Given the description of an element on the screen output the (x, y) to click on. 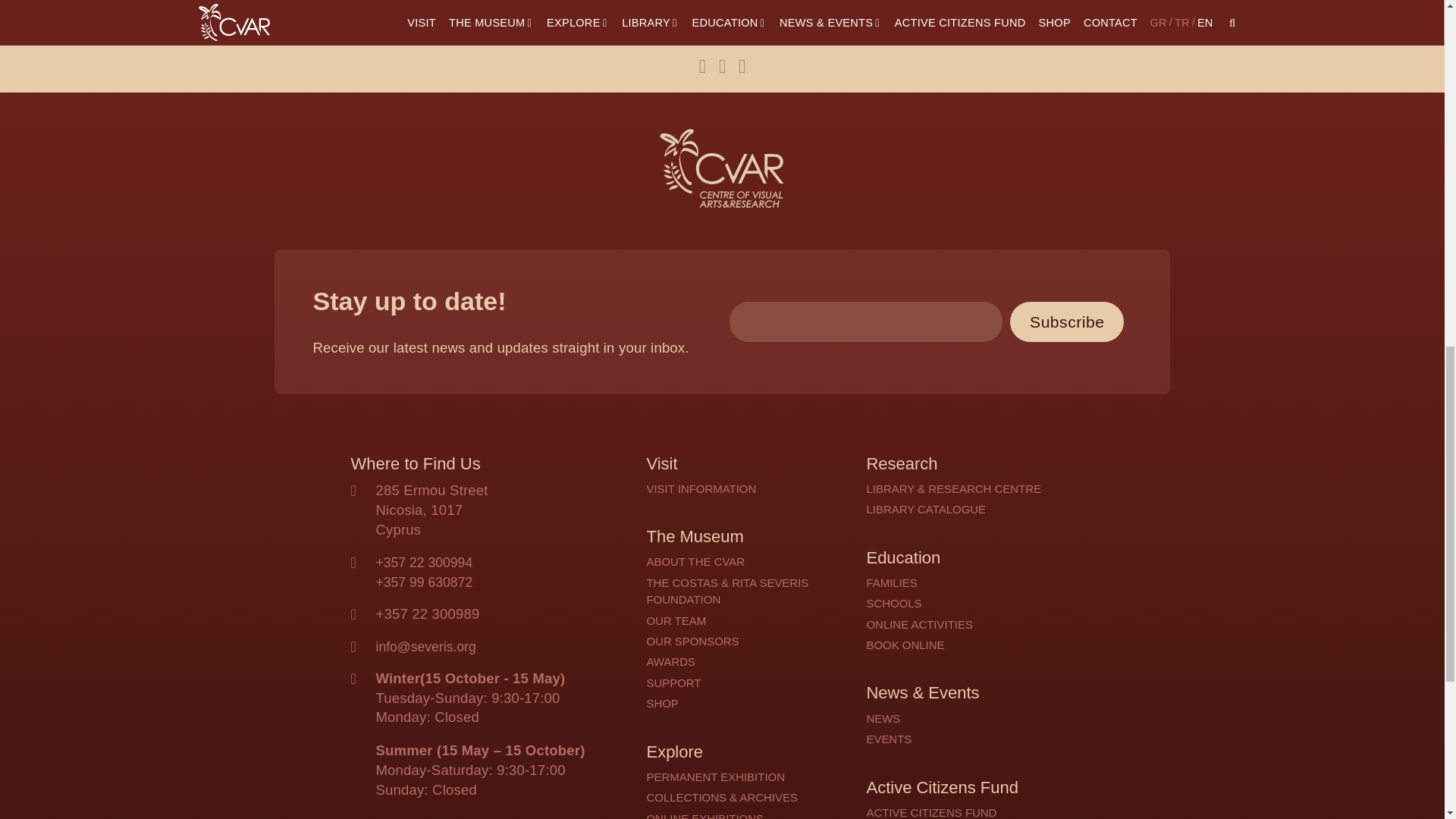
Subscribe (1067, 322)
